Given the description of an element on the screen output the (x, y) to click on. 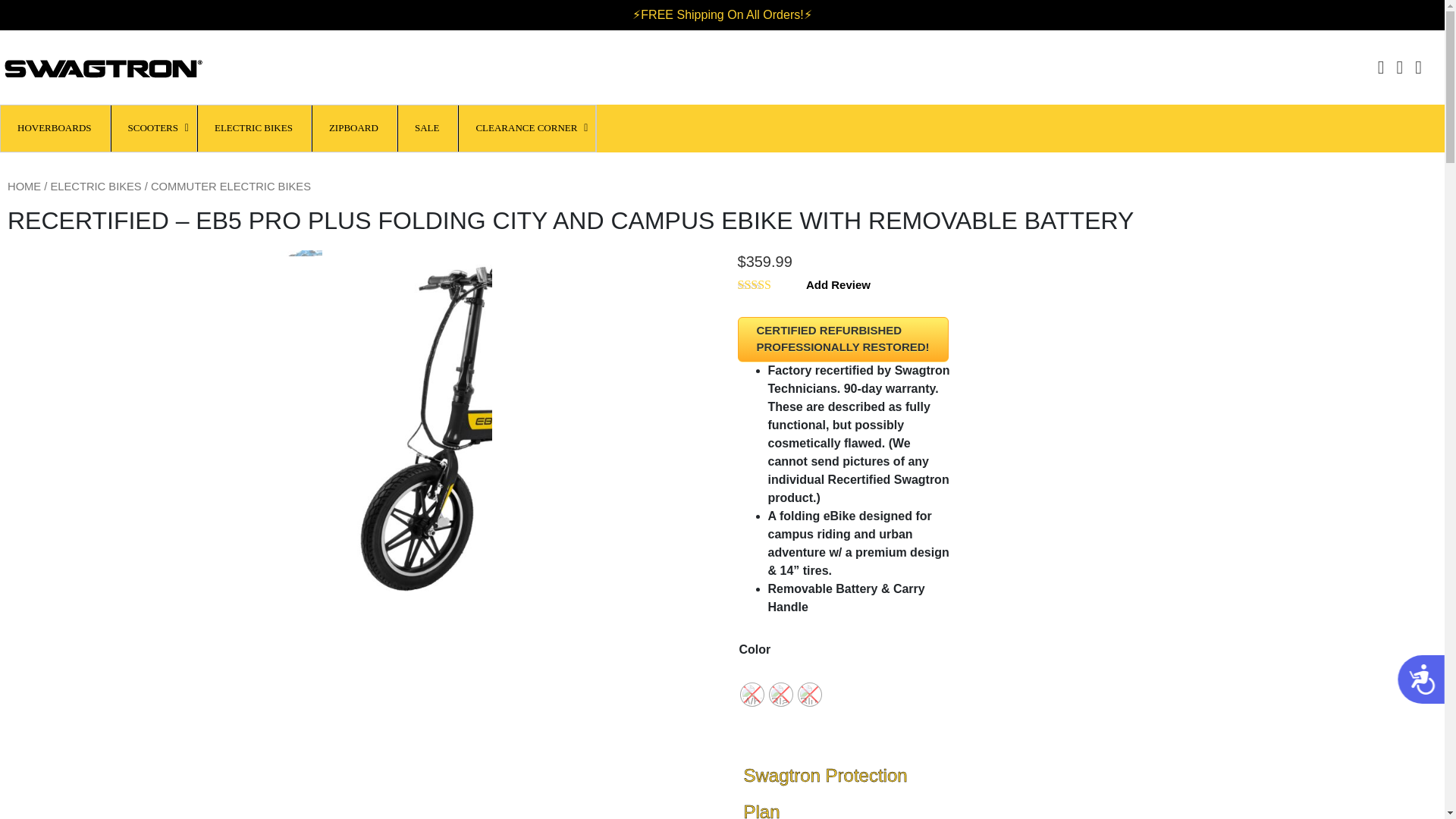
CLEARANCE CORNER (526, 128)
Blue (809, 694)
White (750, 694)
Rated 4.6788247213779 out of 5 (769, 285)
ELECTRIC BIKES (95, 186)
ELECTRIC BIKES (254, 128)
Black (780, 694)
ZIPBOARD (355, 128)
COMMUTER ELECTRIC BIKES (231, 186)
SALE (427, 128)
